Given the description of an element on the screen output the (x, y) to click on. 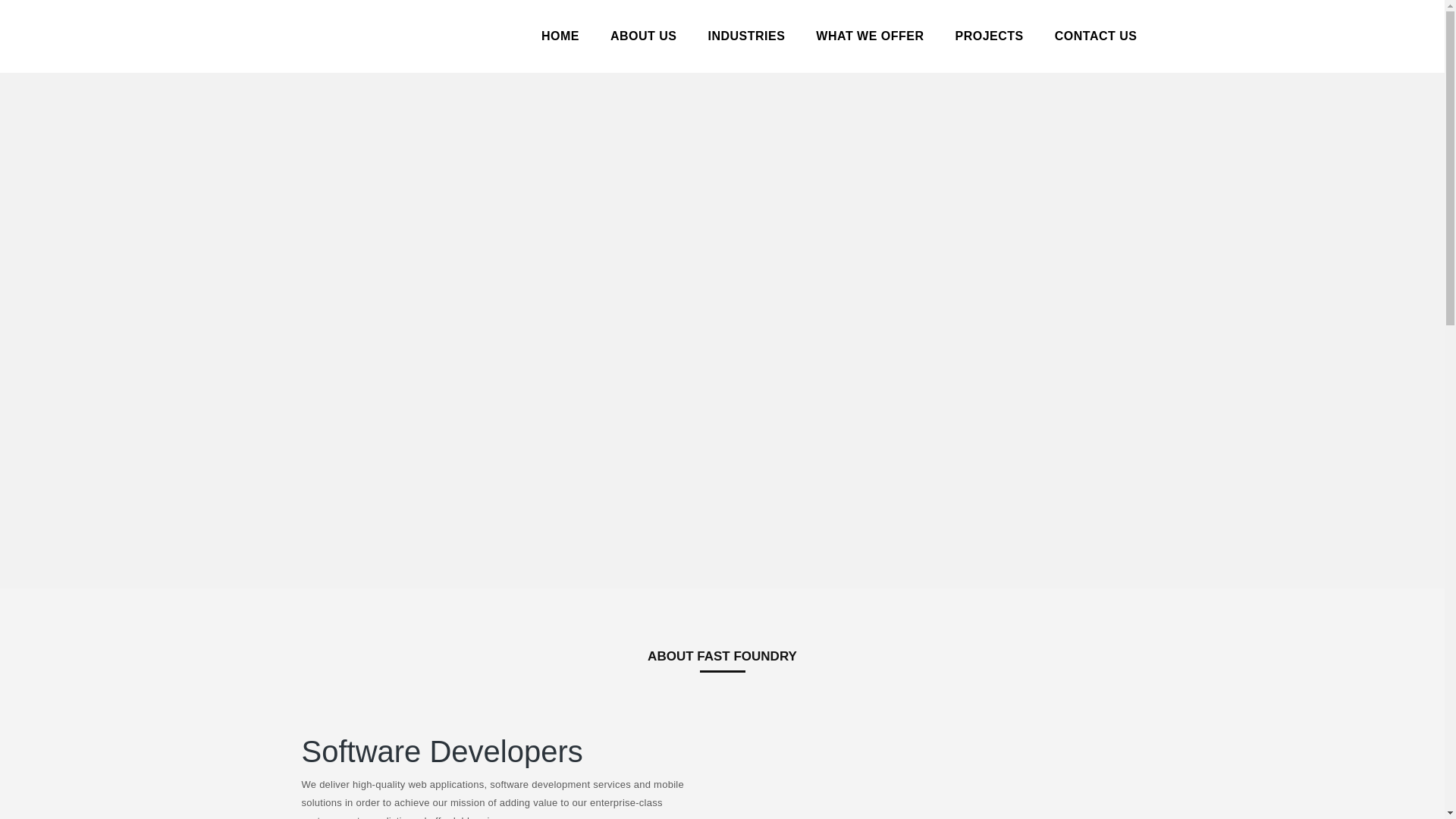
WHAT WE OFFER (869, 35)
ABOUT US (643, 35)
CONTACT US (1095, 35)
CONTACT US (1095, 35)
INDUSTRIES (745, 35)
PROJECTS (989, 35)
